Given the description of an element on the screen output the (x, y) to click on. 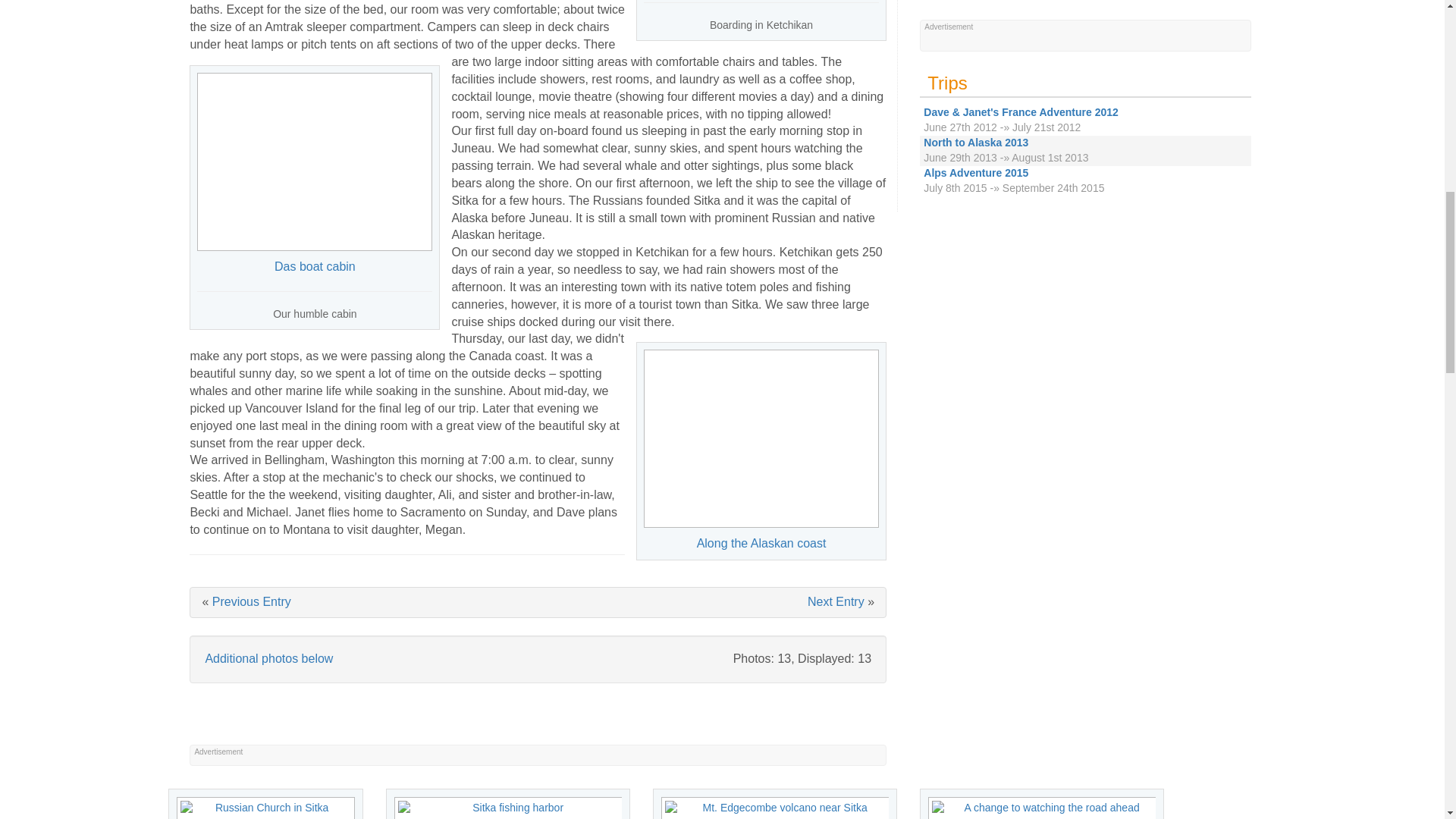
Das boat cabin (314, 161)
Along the Alaskan coast (761, 438)
